Given the description of an element on the screen output the (x, y) to click on. 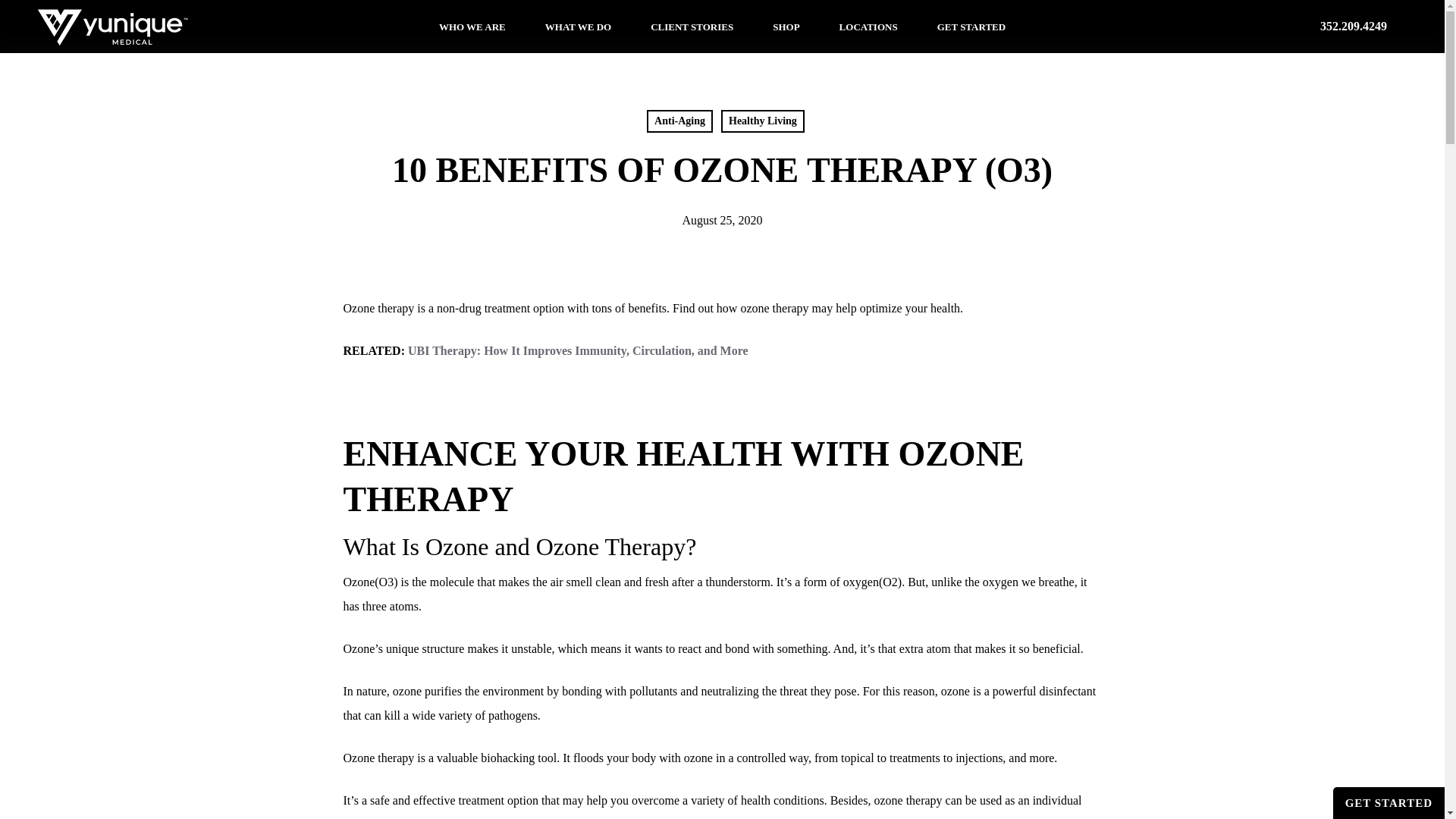
LOCATIONS (868, 26)
SHOP (785, 26)
WHO WE ARE (472, 26)
CLIENT STORIES (691, 26)
WHAT WE DO (577, 26)
